Given the description of an element on the screen output the (x, y) to click on. 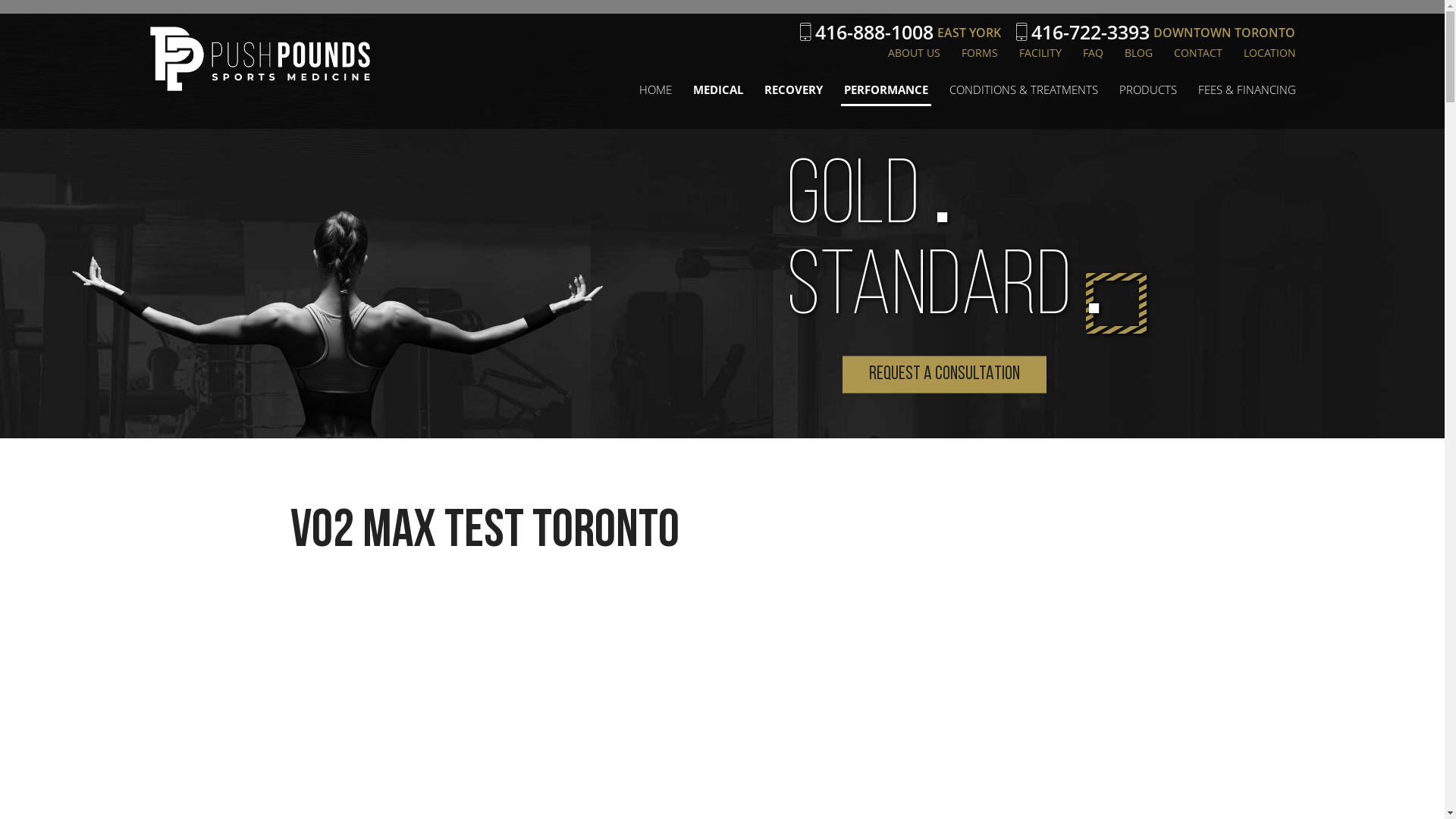
BLOG Element type: text (1137, 56)
416-888-1008 Element type: text (865, 31)
416-722-3393 Element type: text (1082, 31)
LOCATION Element type: text (1269, 56)
REQUEST A CONSULTATION Element type: text (943, 373)
HOME Element type: text (654, 93)
